Given the description of an element on the screen output the (x, y) to click on. 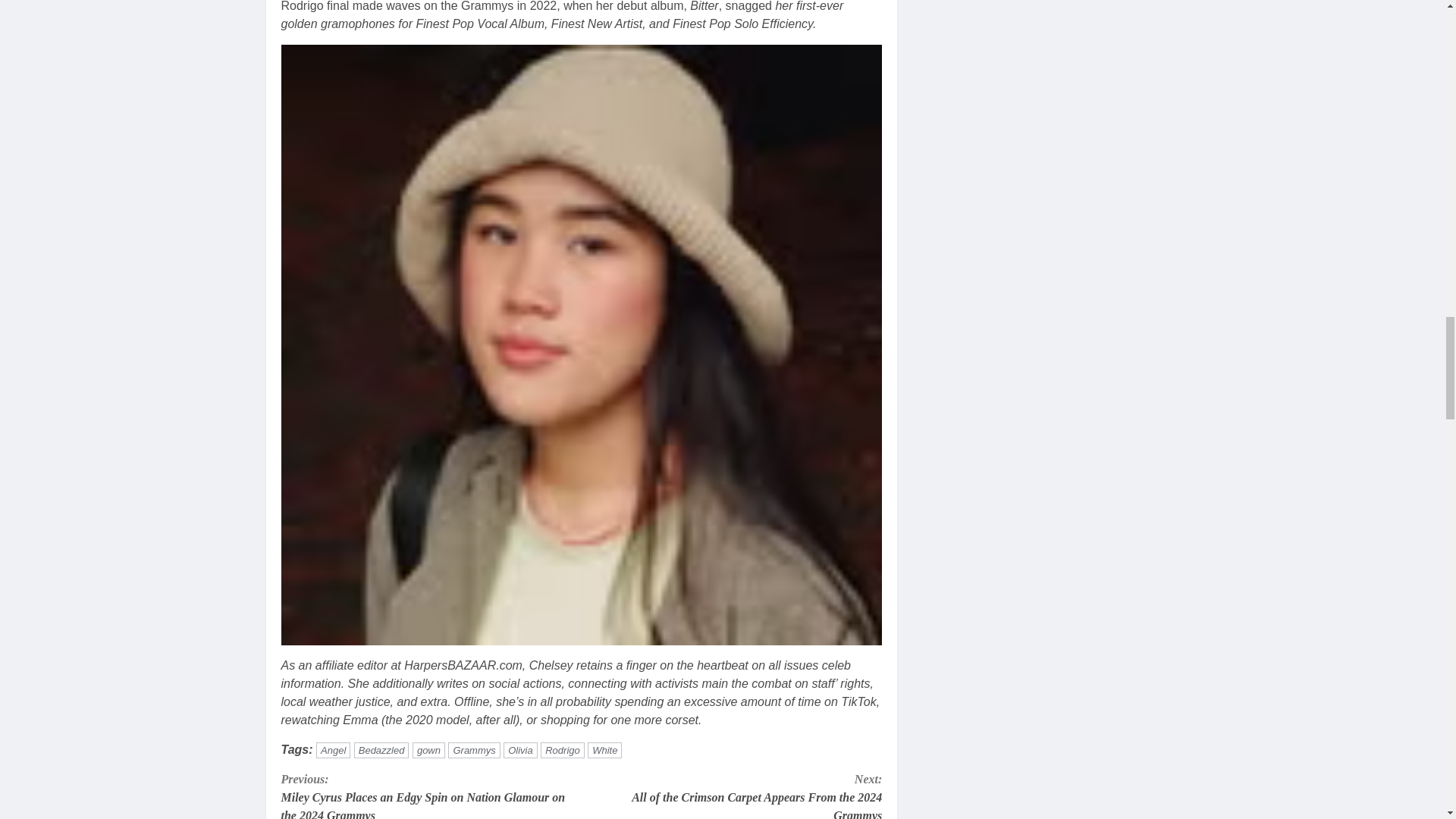
Grammys (473, 750)
Olivia (520, 750)
White (604, 750)
Bedazzled (381, 750)
Angel (332, 750)
gown (428, 750)
Rodrigo (562, 750)
